Given the description of an element on the screen output the (x, y) to click on. 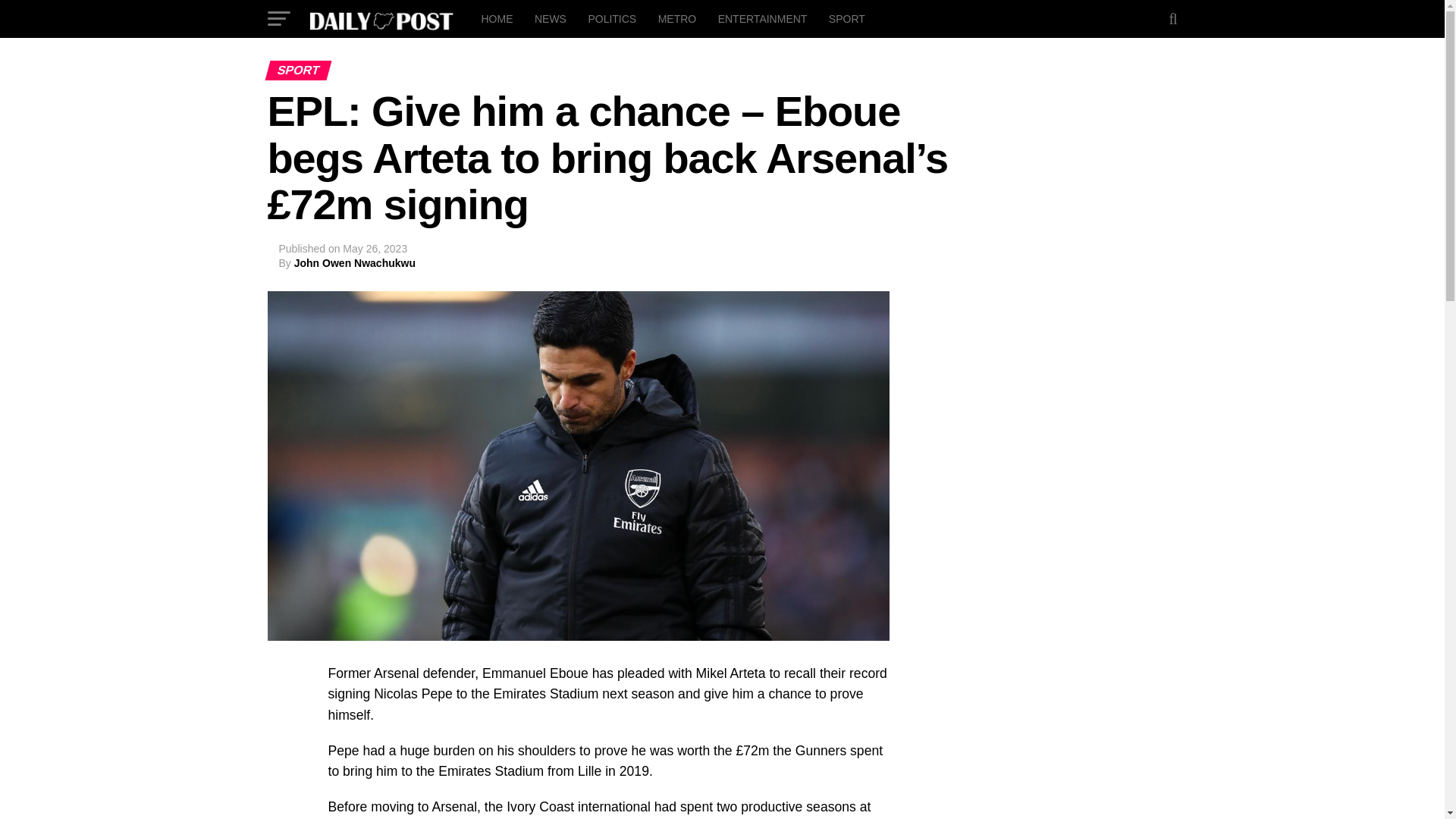
Posts by John Owen Nwachukwu (354, 263)
NEWS (550, 18)
ENTERTAINMENT (762, 18)
John Owen Nwachukwu (354, 263)
METRO (677, 18)
SPORT (847, 18)
HOME (496, 18)
POLITICS (611, 18)
